Given the description of an element on the screen output the (x, y) to click on. 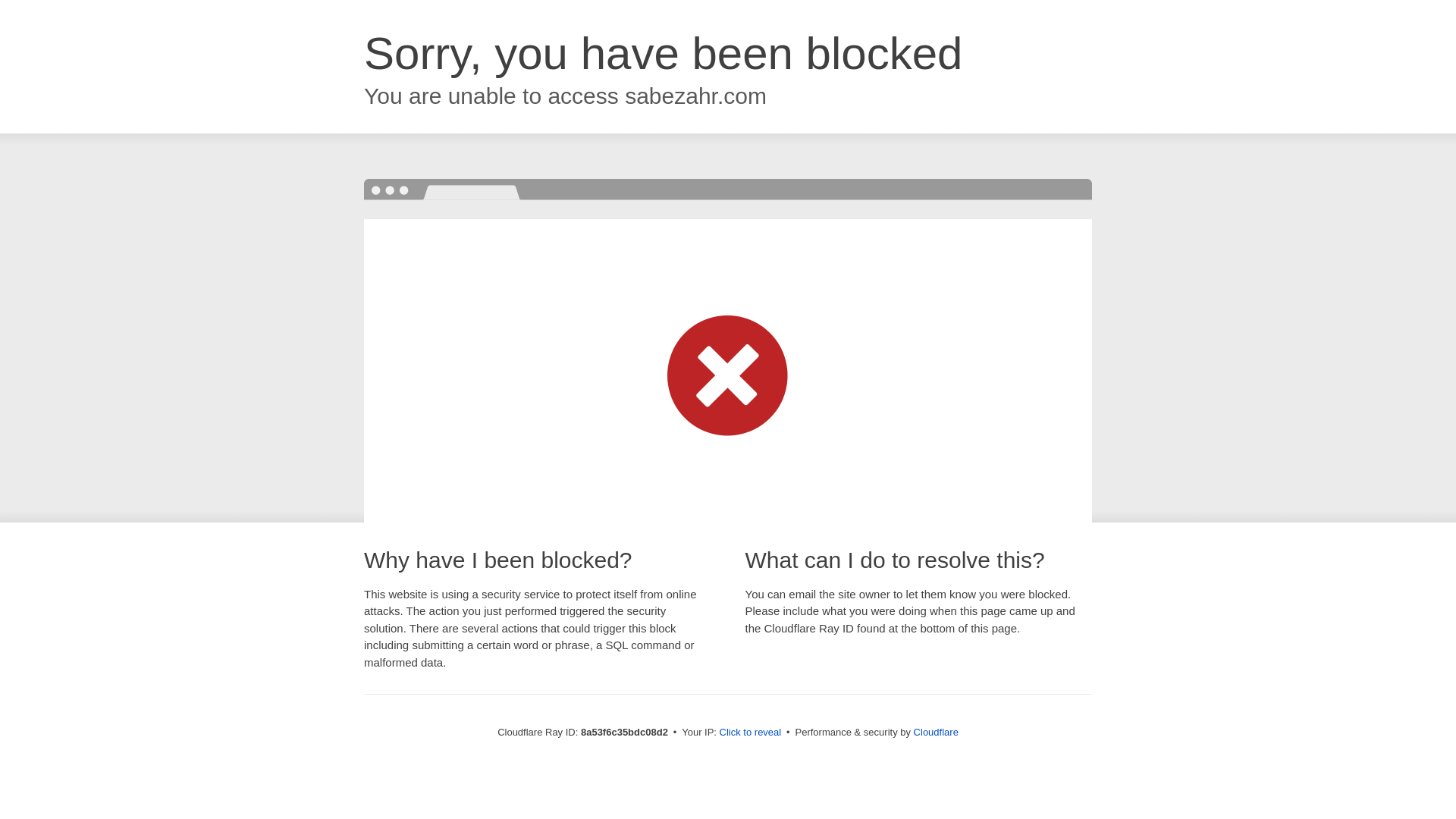
Cloudflare (936, 731)
Click to reveal (750, 732)
